Given the description of an element on the screen output the (x, y) to click on. 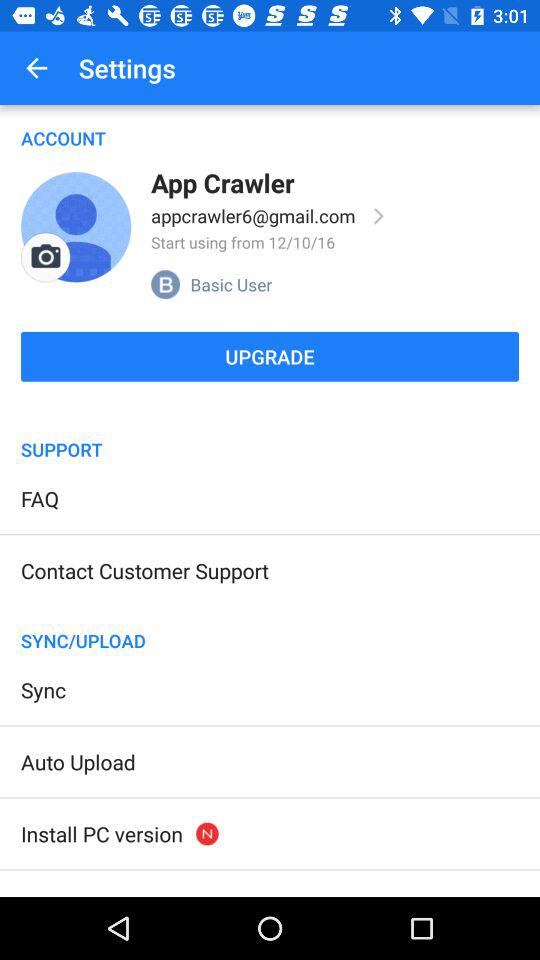
click the app crawler item (222, 182)
